Given the description of an element on the screen output the (x, y) to click on. 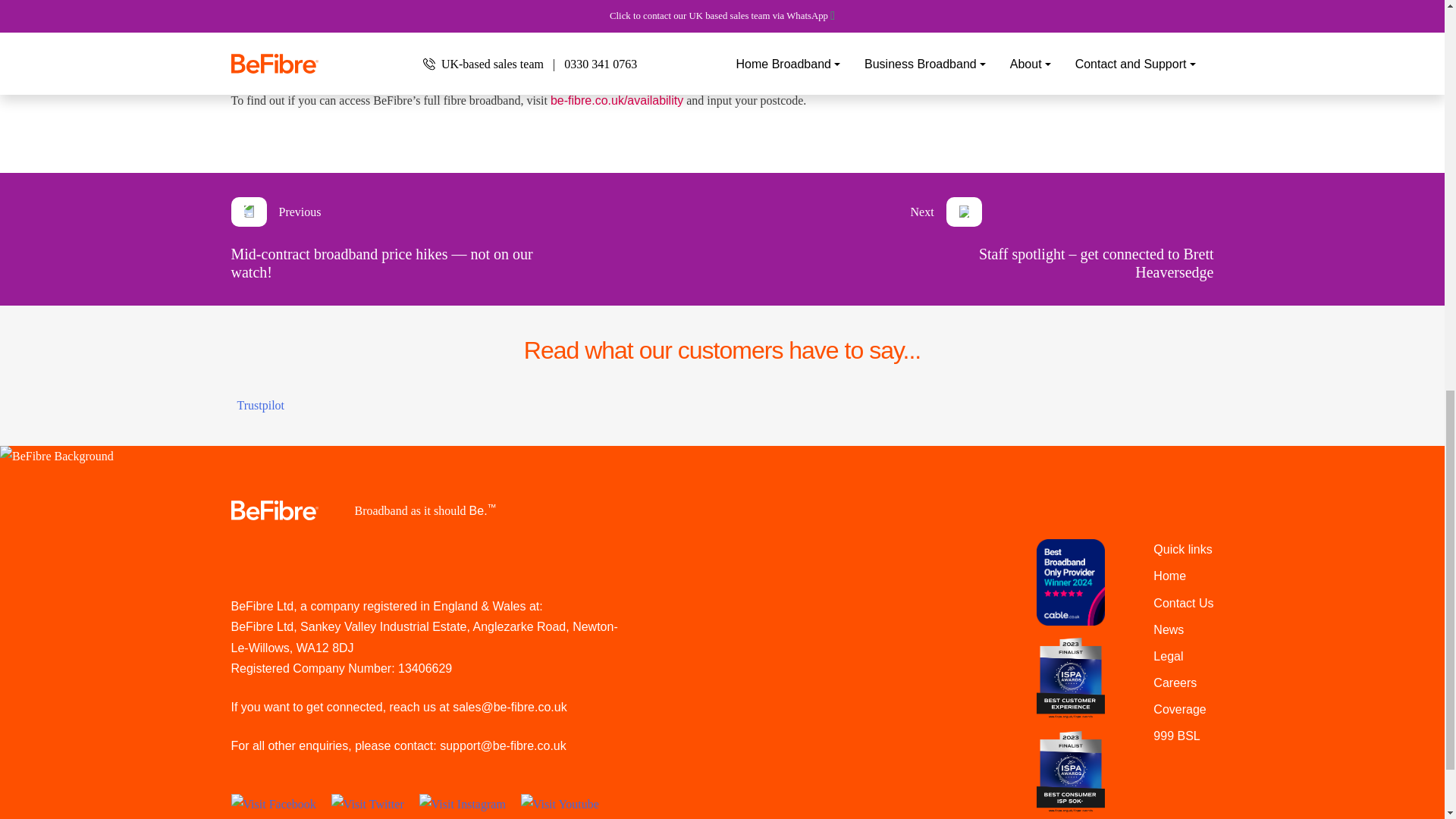
News (1168, 629)
Home (1169, 575)
Contact Us (1182, 603)
Careers (1174, 682)
Legal (1167, 656)
Trustpilot (259, 404)
